Given the description of an element on the screen output the (x, y) to click on. 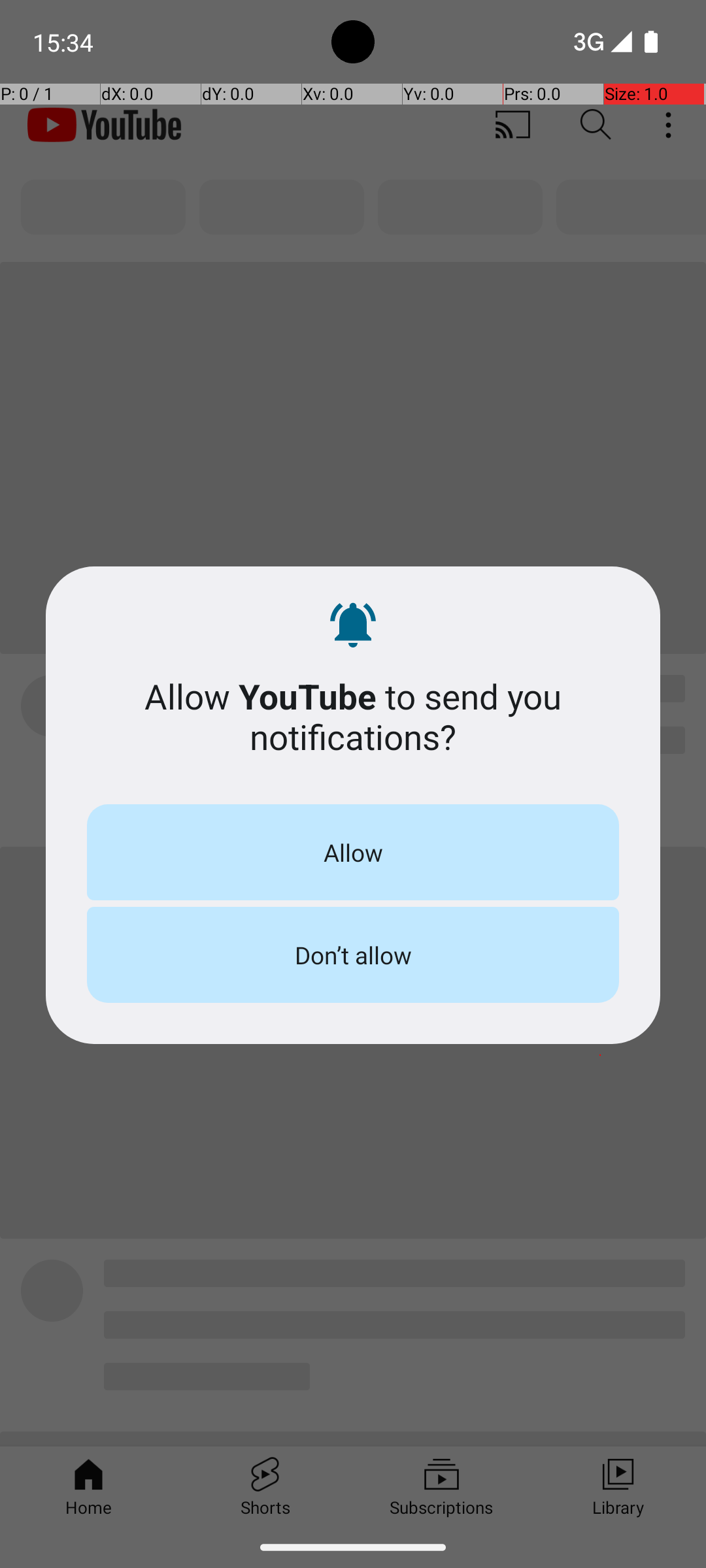
Allow YouTube to send you notifications? Element type: android.widget.TextView (352, 715)
